Given the description of an element on the screen output the (x, y) to click on. 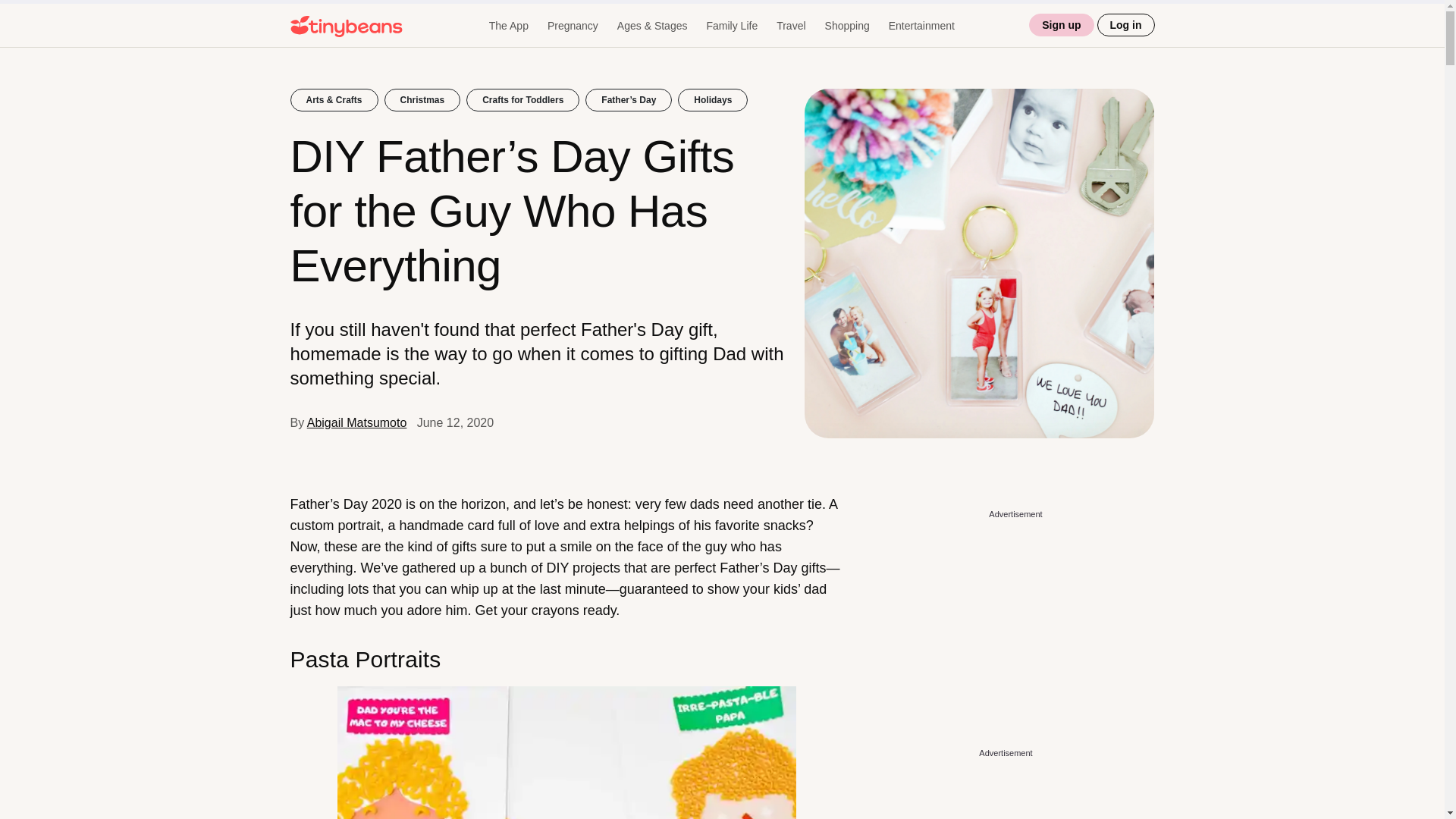
The App (508, 25)
Family Life (731, 25)
Posts by Abigail Matsumoto (357, 422)
Pregnancy (572, 25)
